Given the description of an element on the screen output the (x, y) to click on. 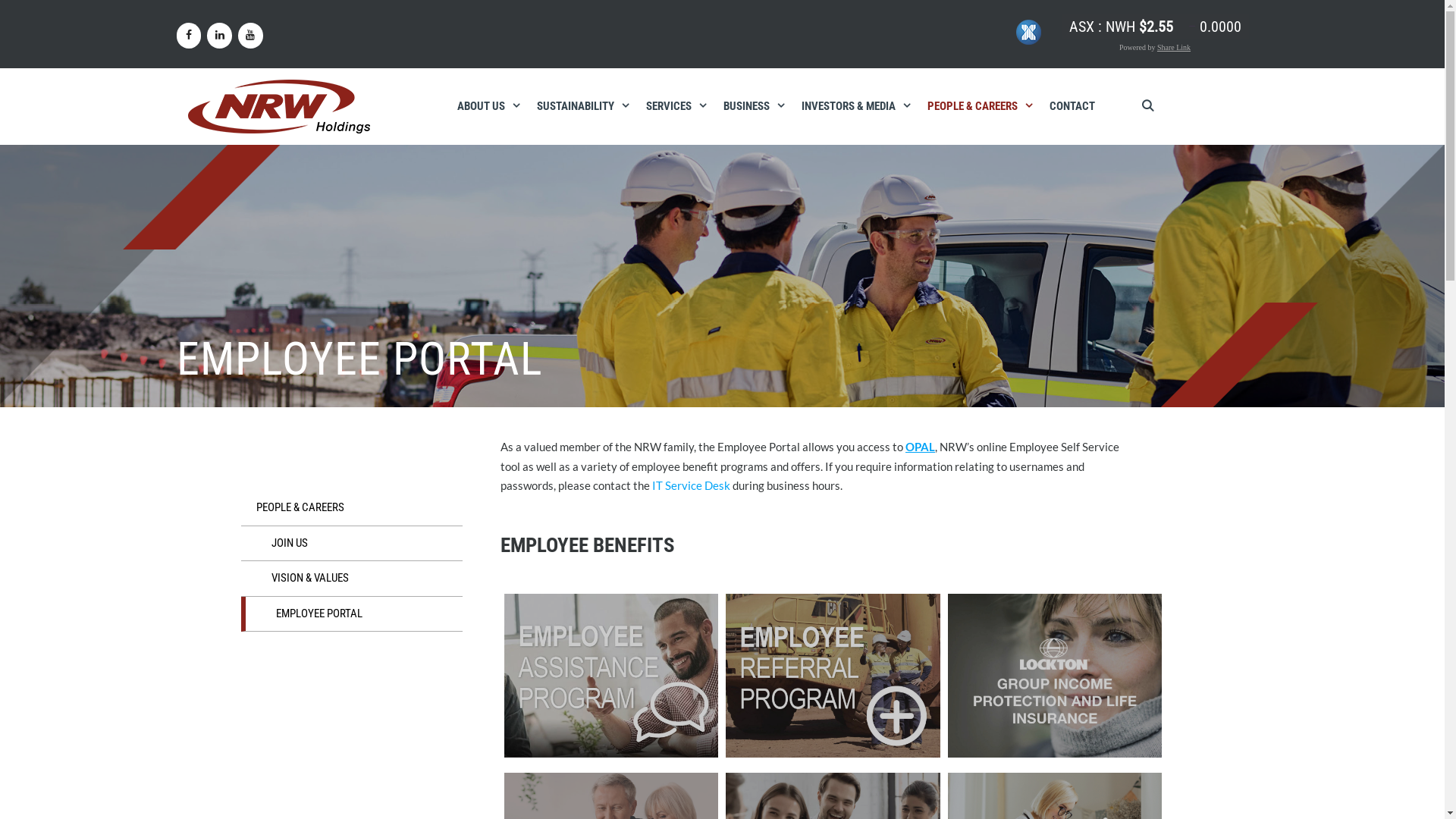
OPAL Element type: text (920, 446)
INVESTORS & MEDIA Element type: text (855, 106)
YouTube Element type: hover (250, 35)
LinkedIn Element type: hover (219, 35)
PEOPLE & CAREERS Element type: text (352, 508)
EMPLOYEE PORTAL Element type: text (352, 613)
Facebook Element type: hover (187, 35)
CONTACT Element type: text (1072, 106)
NRW Holdings Element type: hover (279, 106)
BUSINESS Element type: text (754, 106)
VISION & VALUES Element type: text (352, 578)
SUSTAINABILITY Element type: text (583, 106)
NRW Holdings Element type: hover (279, 104)
PEOPLE & CAREERS Element type: text (979, 106)
IT Service Desk Element type: text (691, 485)
ABOUT US Element type: text (488, 106)
SERVICES Element type: text (677, 106)
JOIN US Element type: text (352, 543)
